Given the description of an element on the screen output the (x, y) to click on. 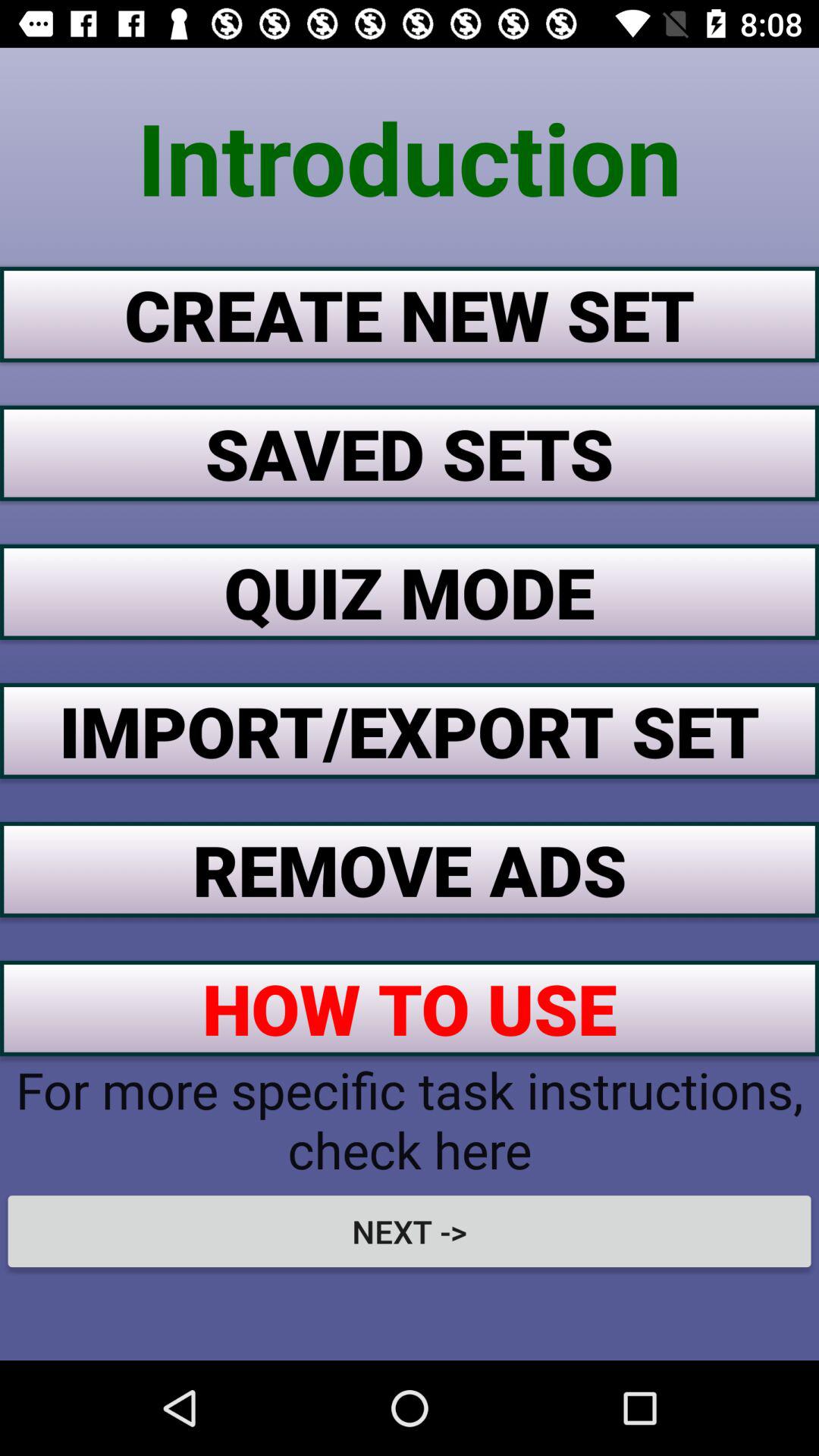
launch icon below the saved sets (409, 591)
